Given the description of an element on the screen output the (x, y) to click on. 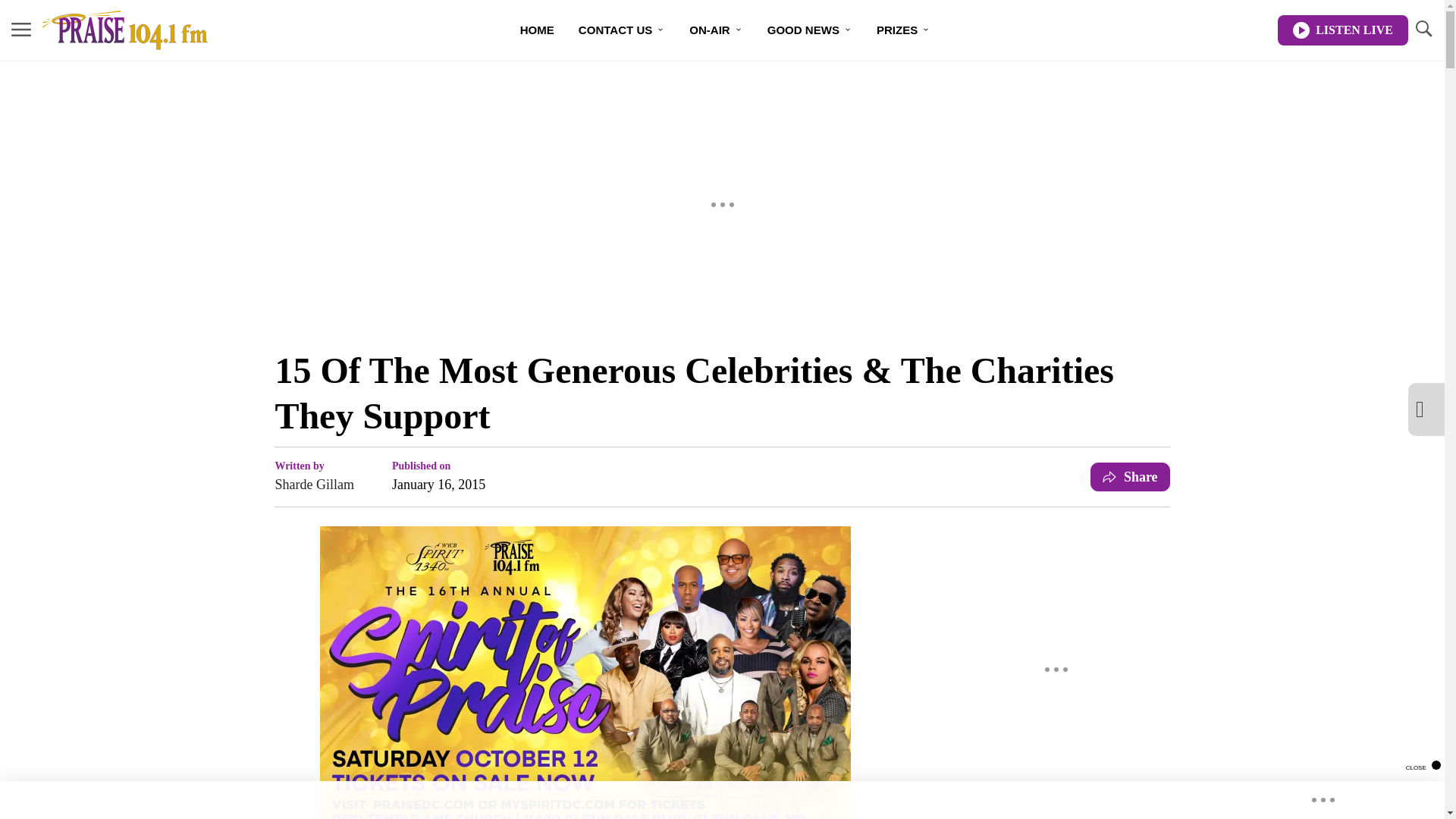
MENU (20, 30)
TOGGLE SEARCH (1422, 30)
LISTEN LIVE (1342, 30)
Share (1130, 476)
ON-AIR (715, 30)
HOME (537, 30)
PRIZES (903, 30)
Sharde Gillam (314, 484)
MENU (20, 29)
CONTACT US (621, 30)
